Given the description of an element on the screen output the (x, y) to click on. 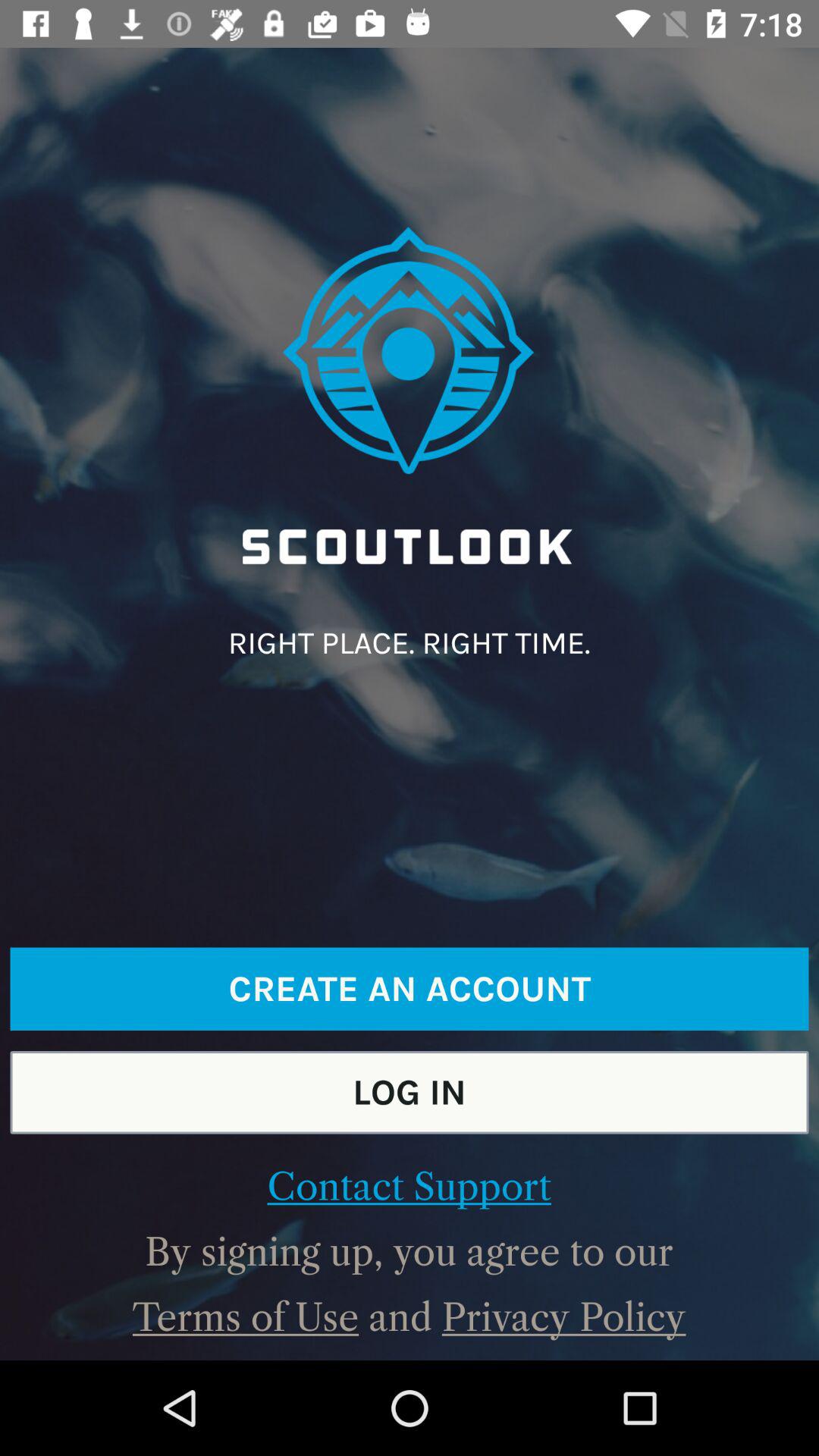
jump until privacy policy (563, 1317)
